Given the description of an element on the screen output the (x, y) to click on. 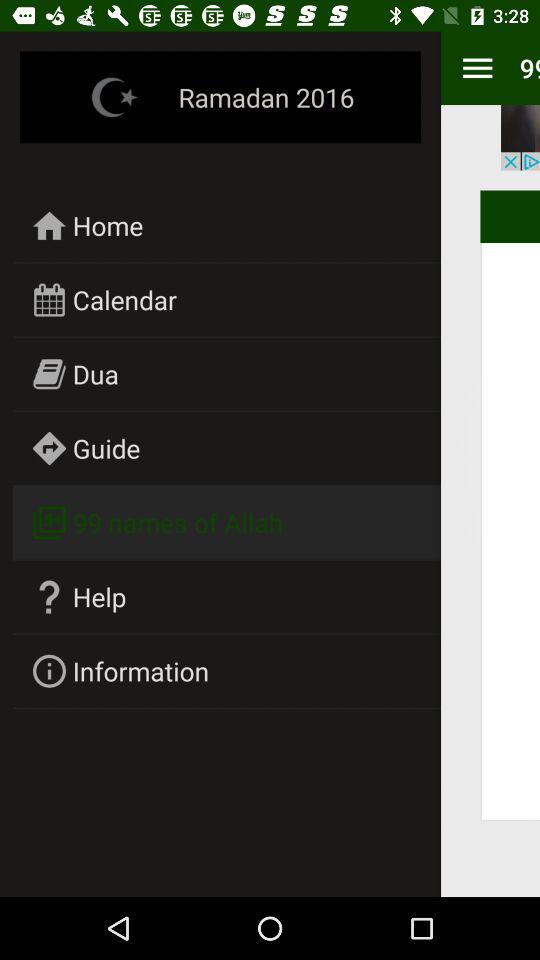
jump until help item (99, 596)
